Given the description of an element on the screen output the (x, y) to click on. 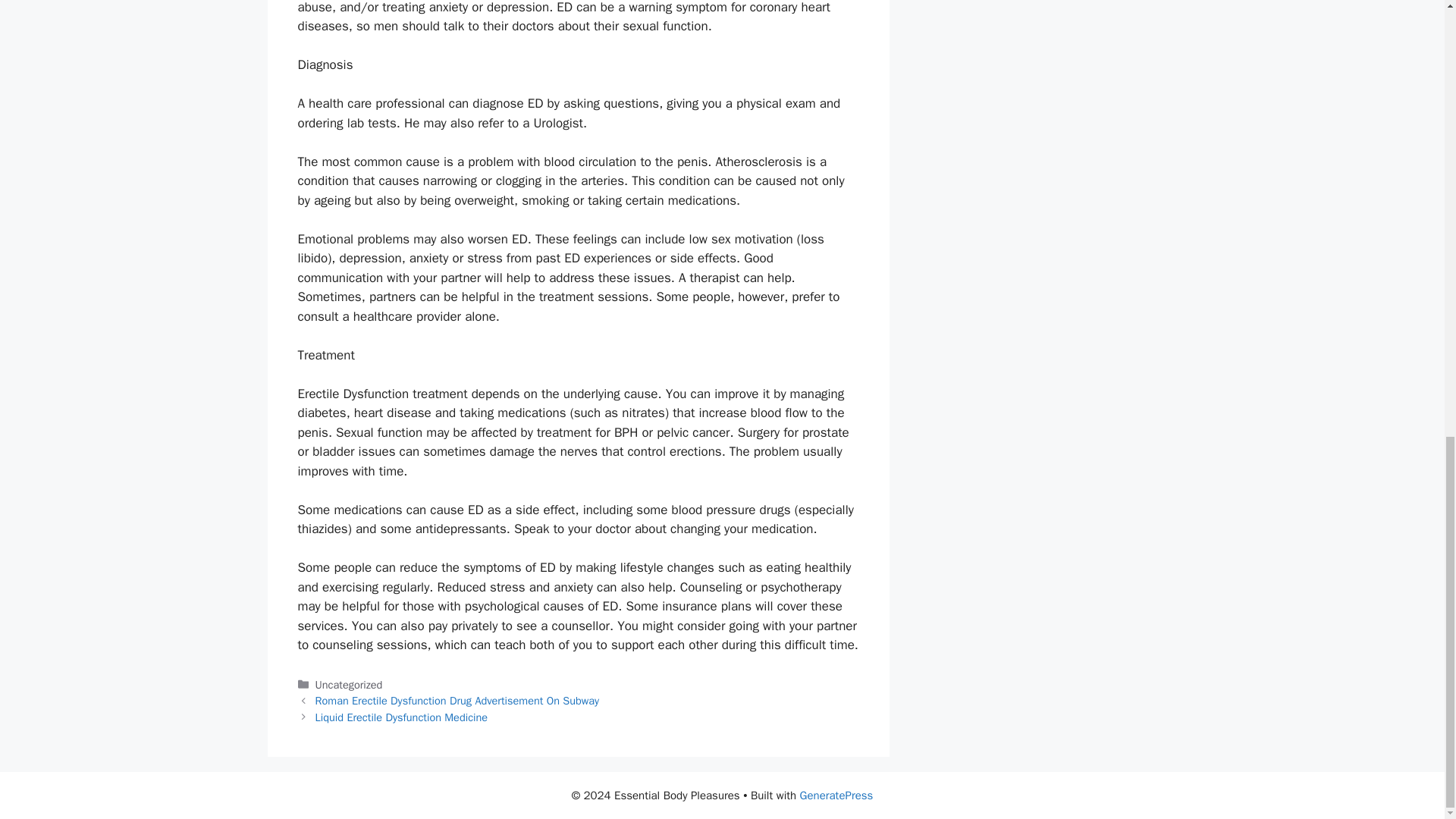
Liquid Erectile Dysfunction Medicine (401, 716)
GeneratePress (836, 795)
Roman Erectile Dysfunction Drug Advertisement On Subway (457, 700)
